Given the description of an element on the screen output the (x, y) to click on. 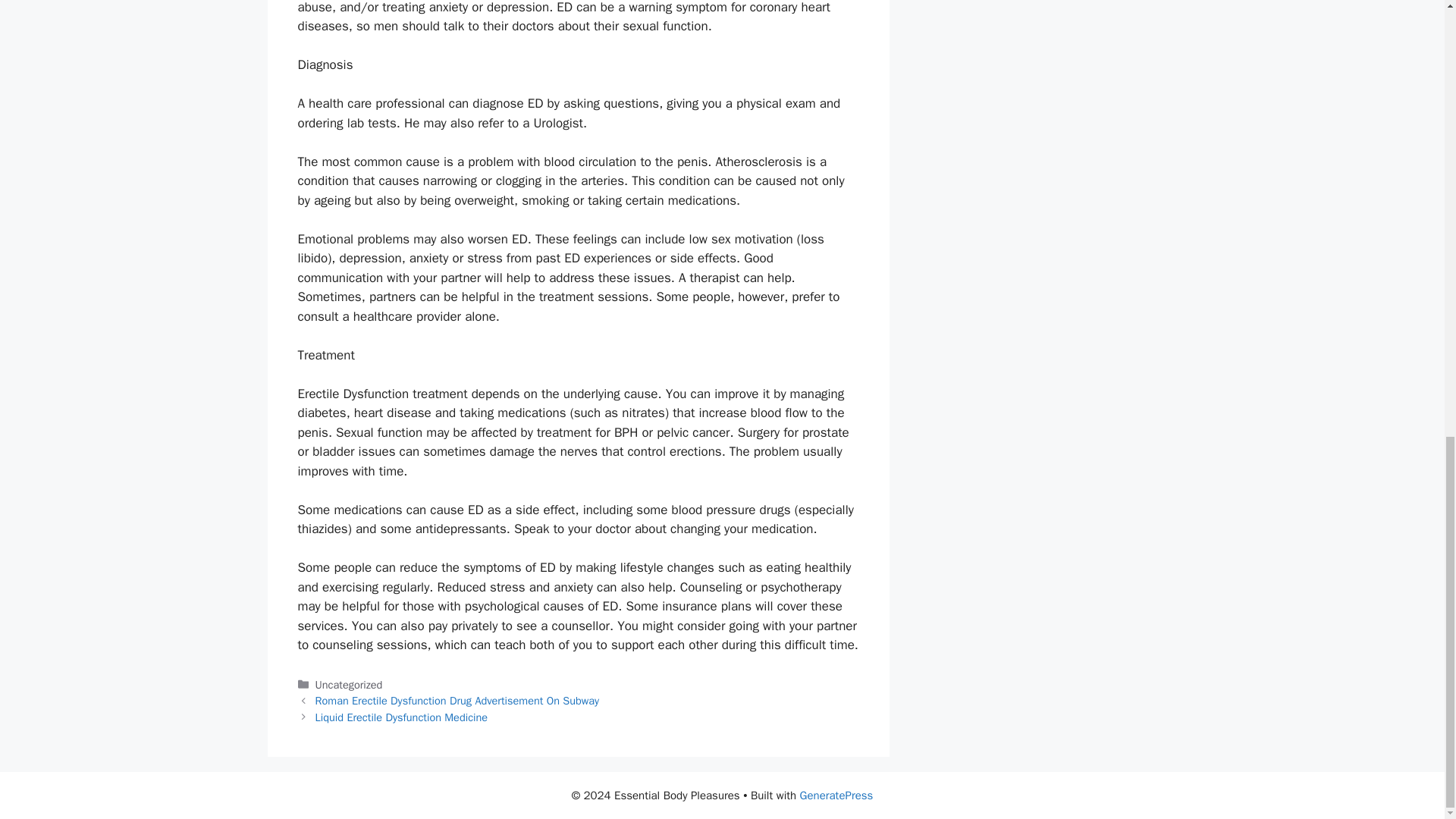
Liquid Erectile Dysfunction Medicine (401, 716)
GeneratePress (836, 795)
Roman Erectile Dysfunction Drug Advertisement On Subway (457, 700)
